Given the description of an element on the screen output the (x, y) to click on. 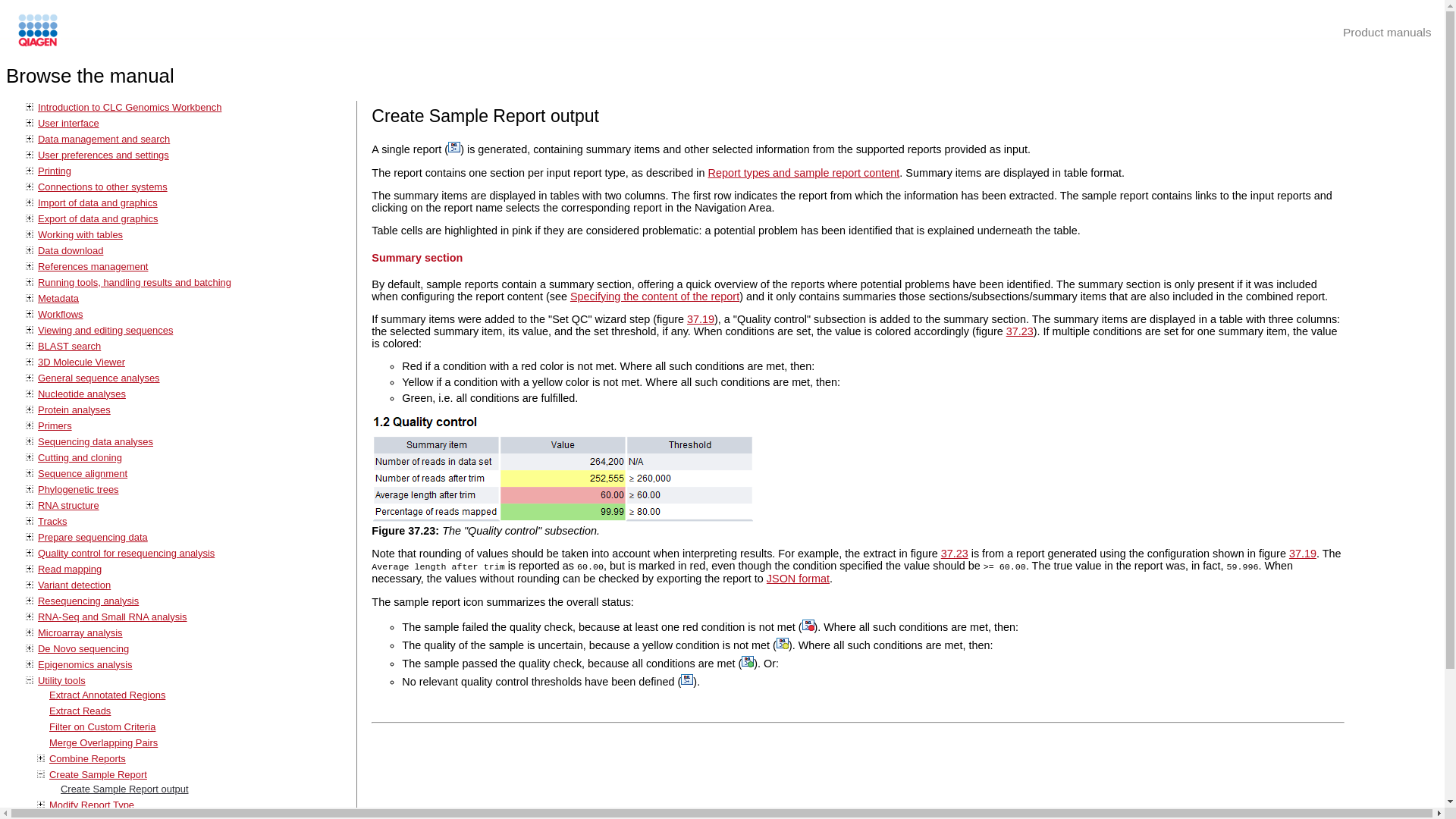
Product manuals (1386, 31)
User interface (68, 122)
Introduction to CLC Genomics Workbench (129, 107)
